Given the description of an element on the screen output the (x, y) to click on. 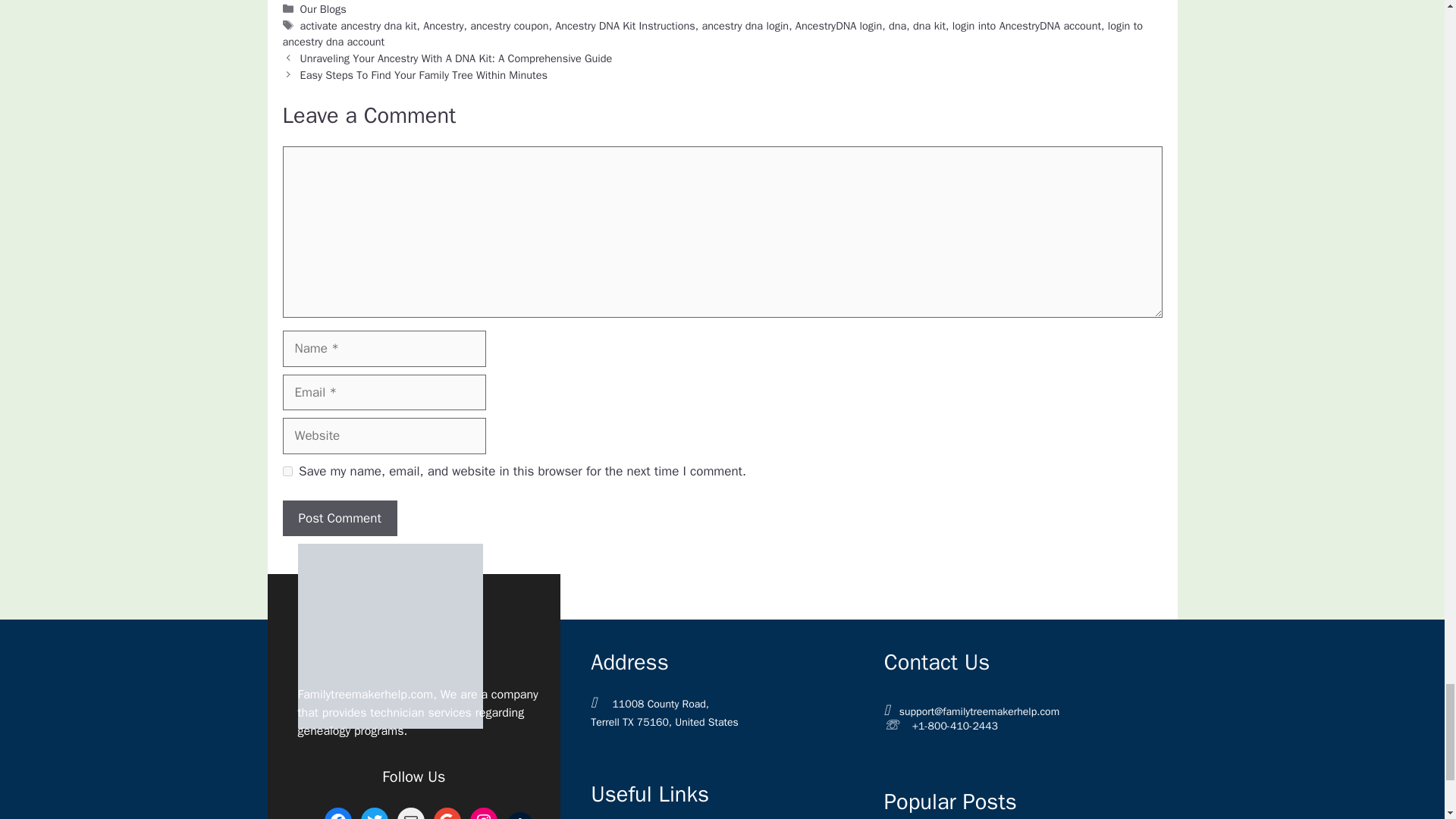
Our Blogs (322, 8)
ancestry coupon (509, 25)
yes (287, 470)
Ancestry (443, 25)
ancestry dna login (745, 25)
Post Comment (339, 518)
dna (896, 25)
AncestryDNA login (838, 25)
activate ancestry dna kit (357, 25)
Ancestry DNA Kit Instructions (624, 25)
